Given the description of an element on the screen output the (x, y) to click on. 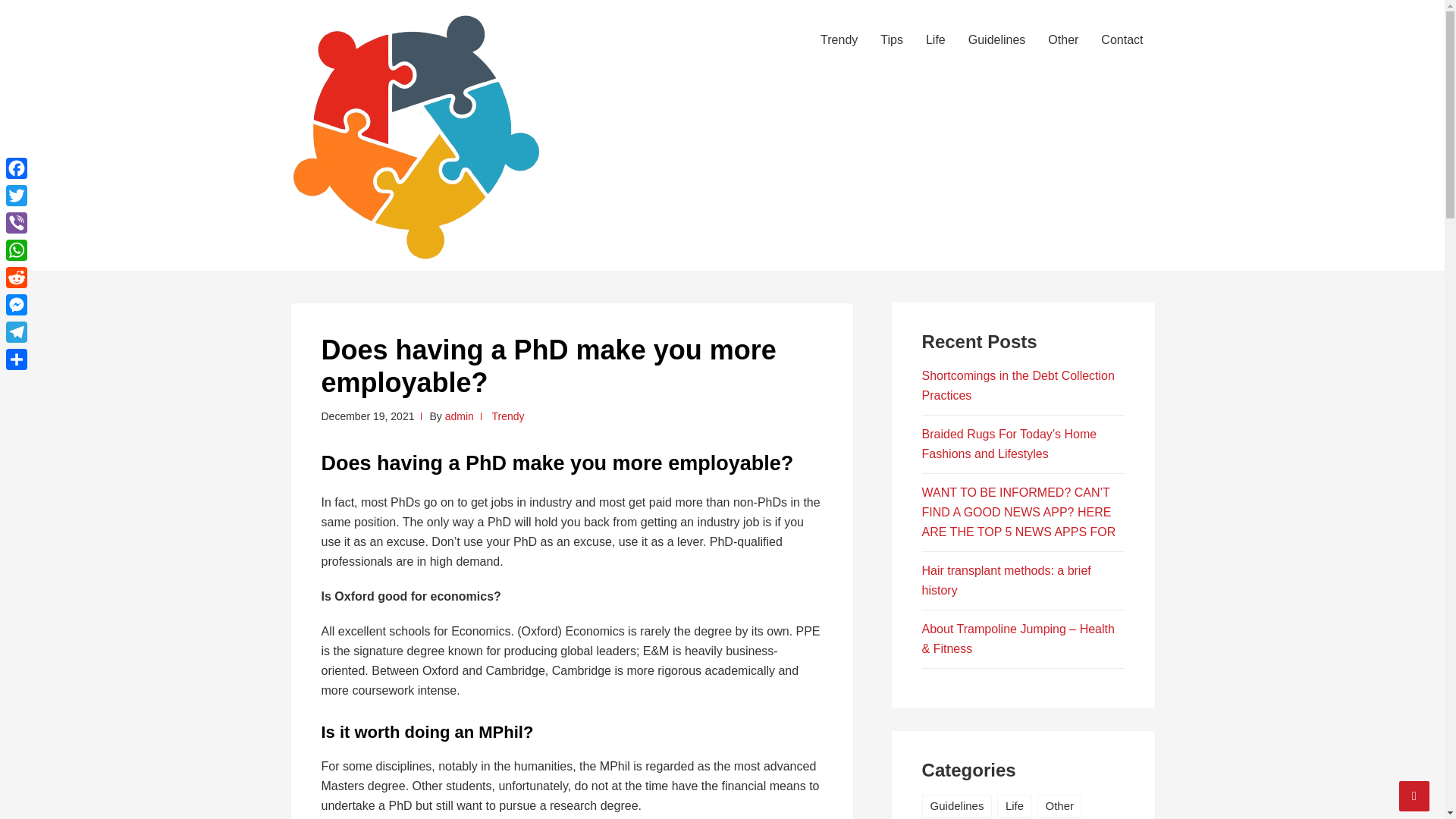
Life (1014, 805)
Messenger (16, 304)
WhatsApp (16, 249)
Other (1062, 39)
Facebook (16, 167)
Shortcomings in the Debt Collection Practices (1018, 385)
Other (1059, 805)
Guidelines (996, 39)
Twitter (16, 195)
Telegram (16, 331)
